Given the description of an element on the screen output the (x, y) to click on. 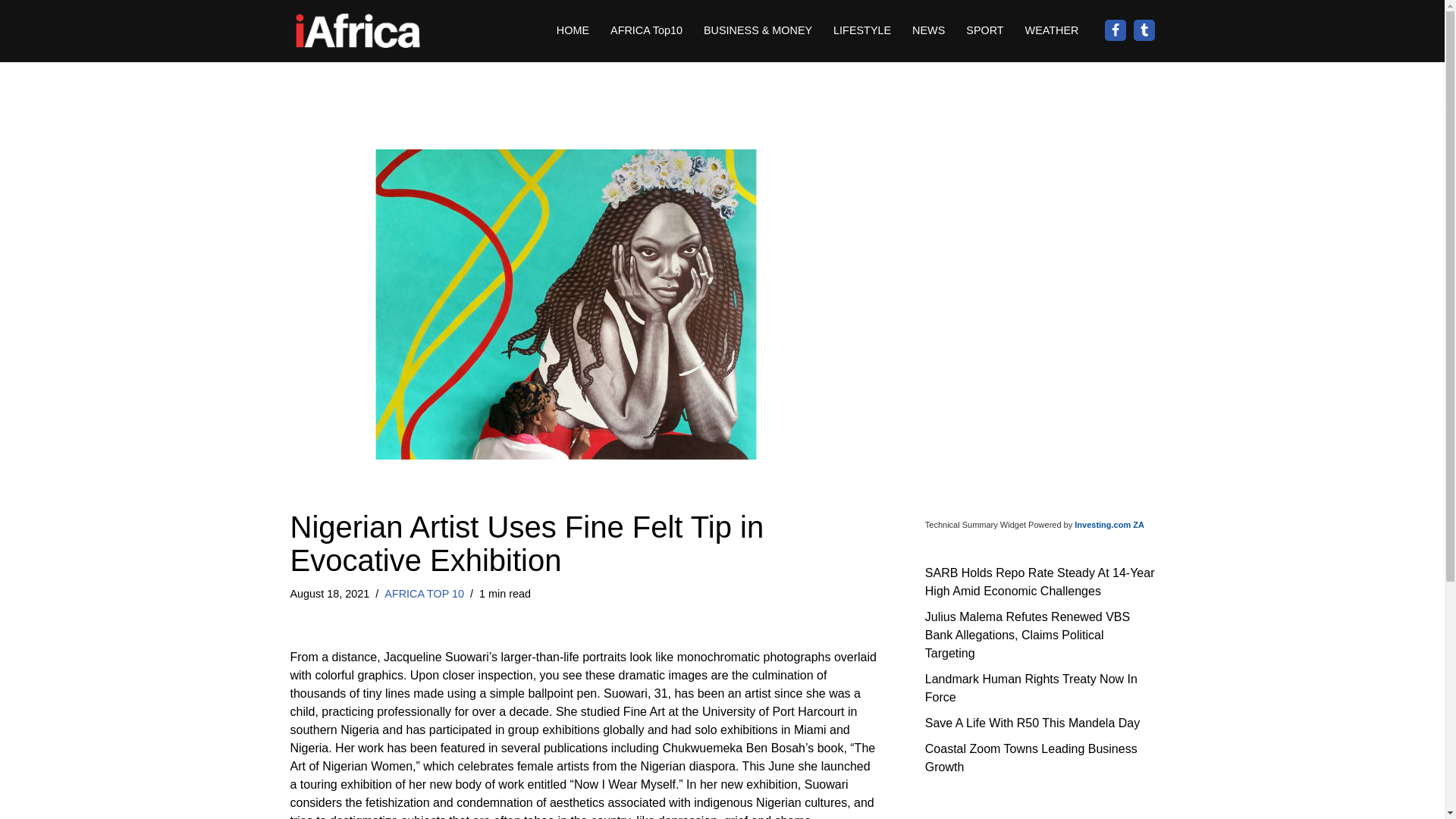
NEWS (928, 30)
Coastal Zoom Towns Leading Business Growth (1030, 757)
AFRICA Top10 (646, 30)
SPORT (984, 30)
Save A Life With R50 This Mandela Day (1032, 721)
LIFESTYLE (861, 30)
Landmark Human Rights Treaty Now In Force (1030, 686)
Facebook (1114, 29)
Skip to content (11, 31)
AFRICA TOP 10 (424, 592)
HOME (572, 30)
WEATHER (1051, 30)
Twitter (1143, 29)
